Given the description of an element on the screen output the (x, y) to click on. 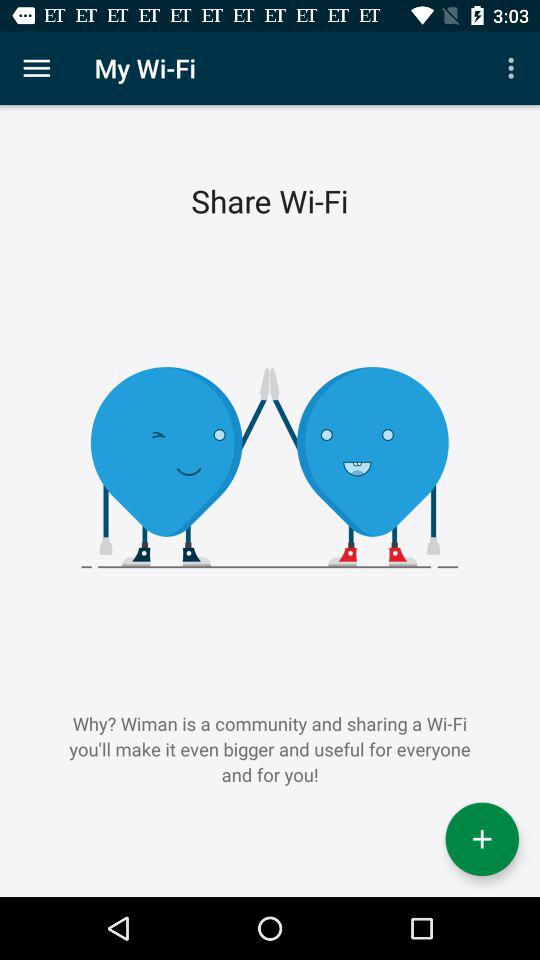
choose the icon below why wiman is icon (482, 839)
